Given the description of an element on the screen output the (x, y) to click on. 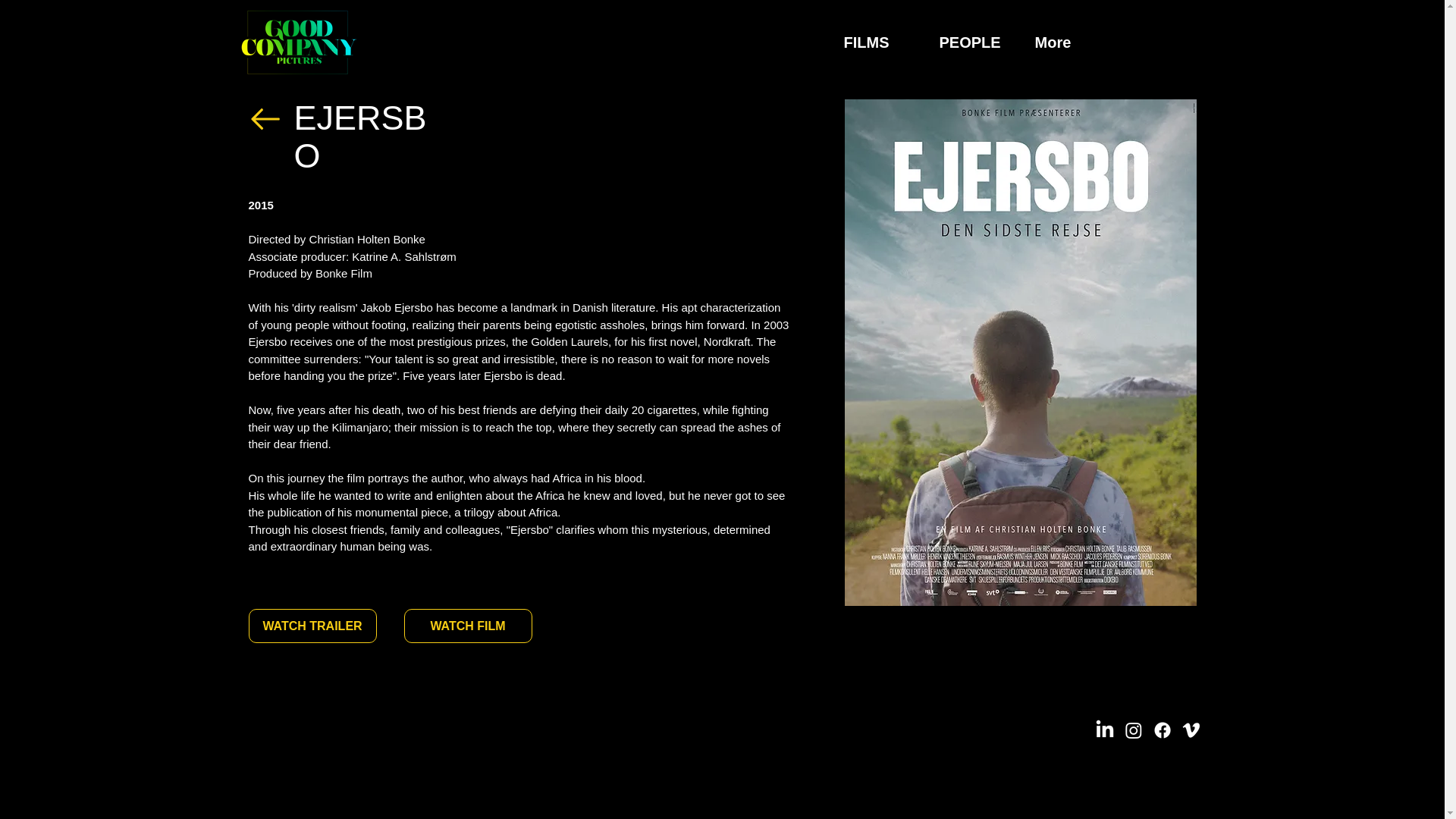
PEOPLE (975, 42)
WATCH FILM (467, 625)
FILMS (880, 42)
WATCH TRAILER (312, 625)
Christian Holten Bonke (366, 238)
